Given the description of an element on the screen output the (x, y) to click on. 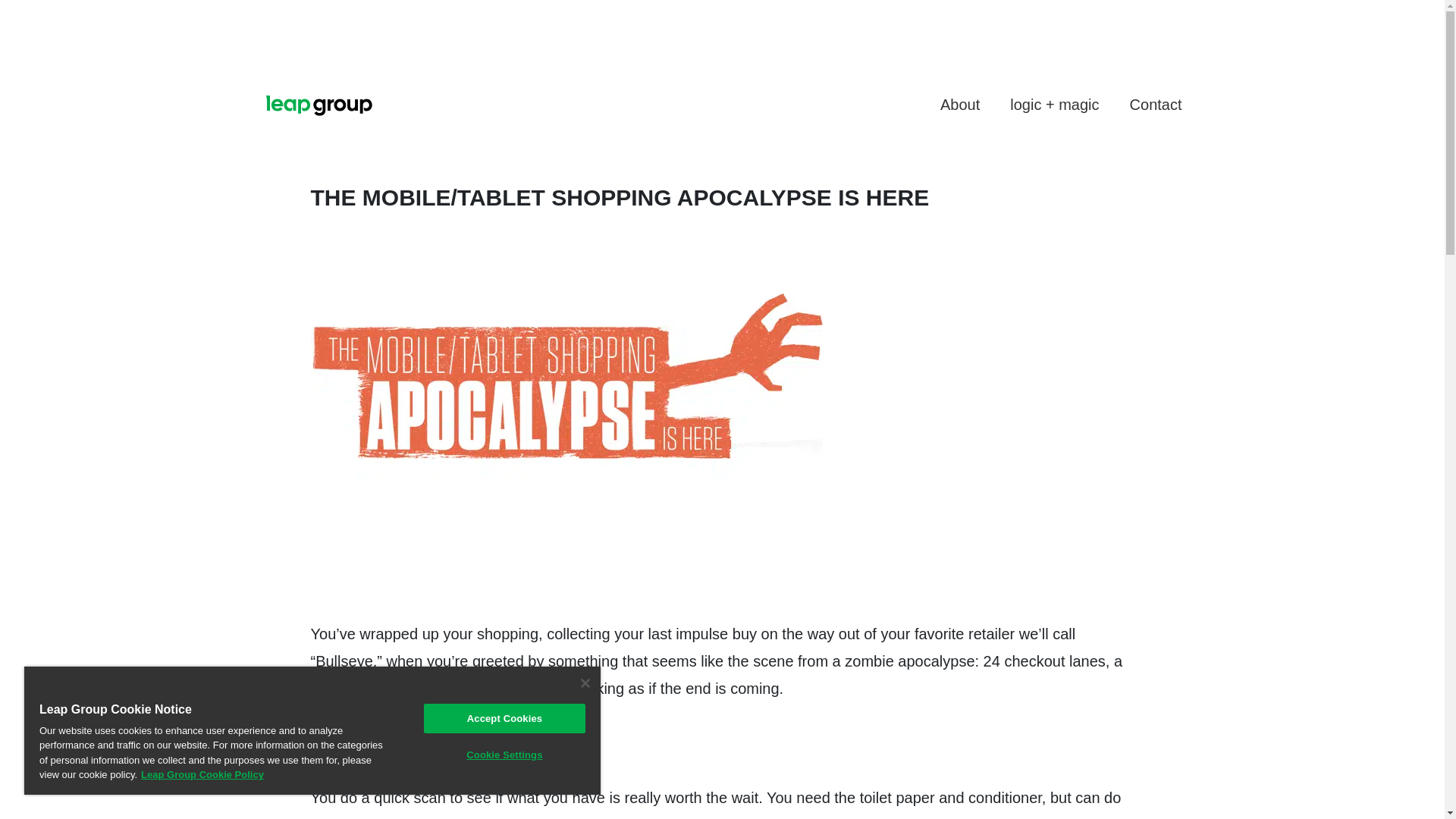
Accept Cookies (504, 718)
About (959, 104)
Leap Group Cookie Policy (202, 774)
Contact (1155, 104)
Cookie Settings (504, 755)
